Given the description of an element on the screen output the (x, y) to click on. 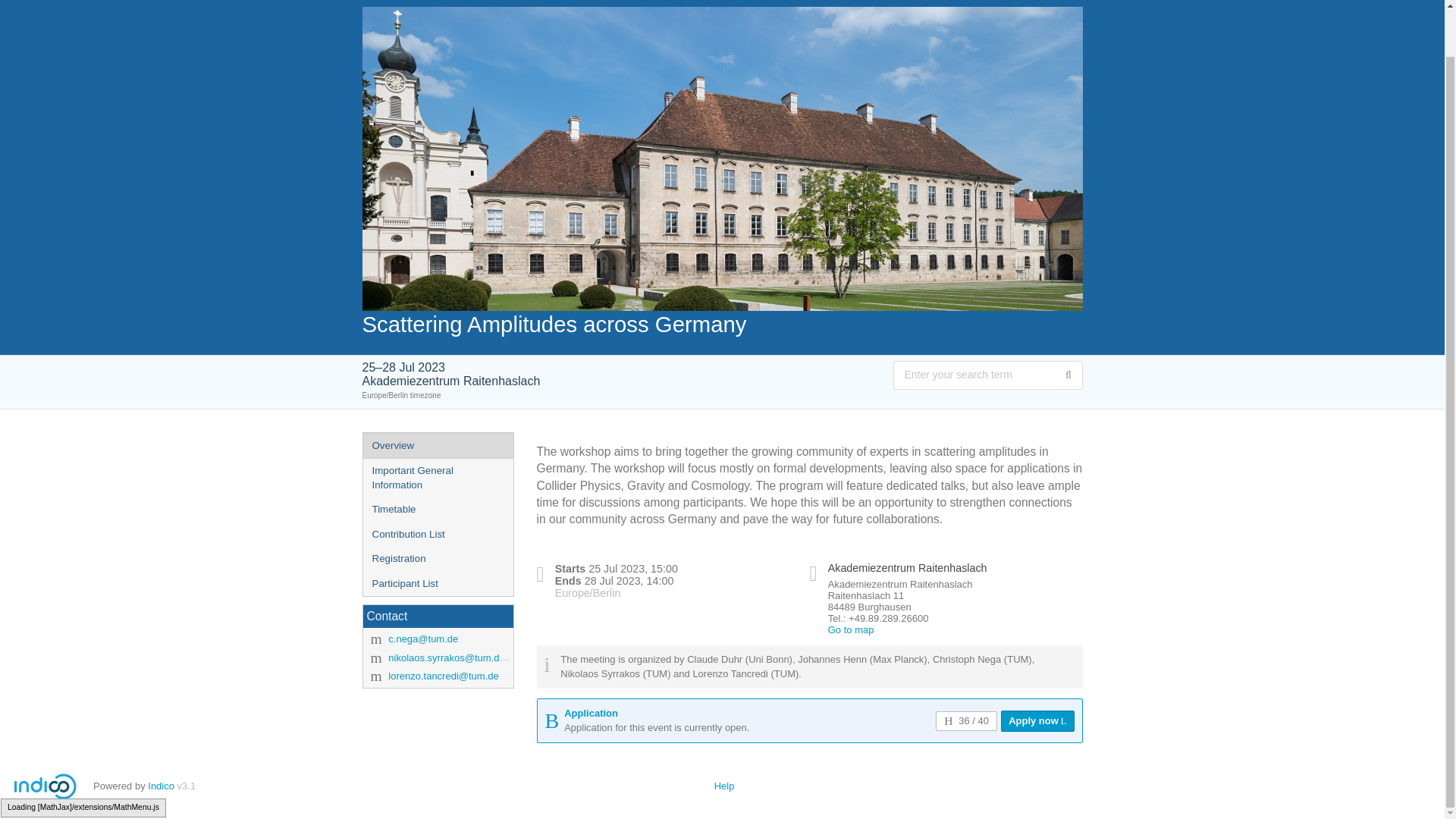
Participant List (437, 584)
Total registrations (966, 721)
Overview (437, 446)
Timetable (437, 509)
Important General Information (437, 477)
Contribution List (437, 534)
Registration (437, 559)
